Given the description of an element on the screen output the (x, y) to click on. 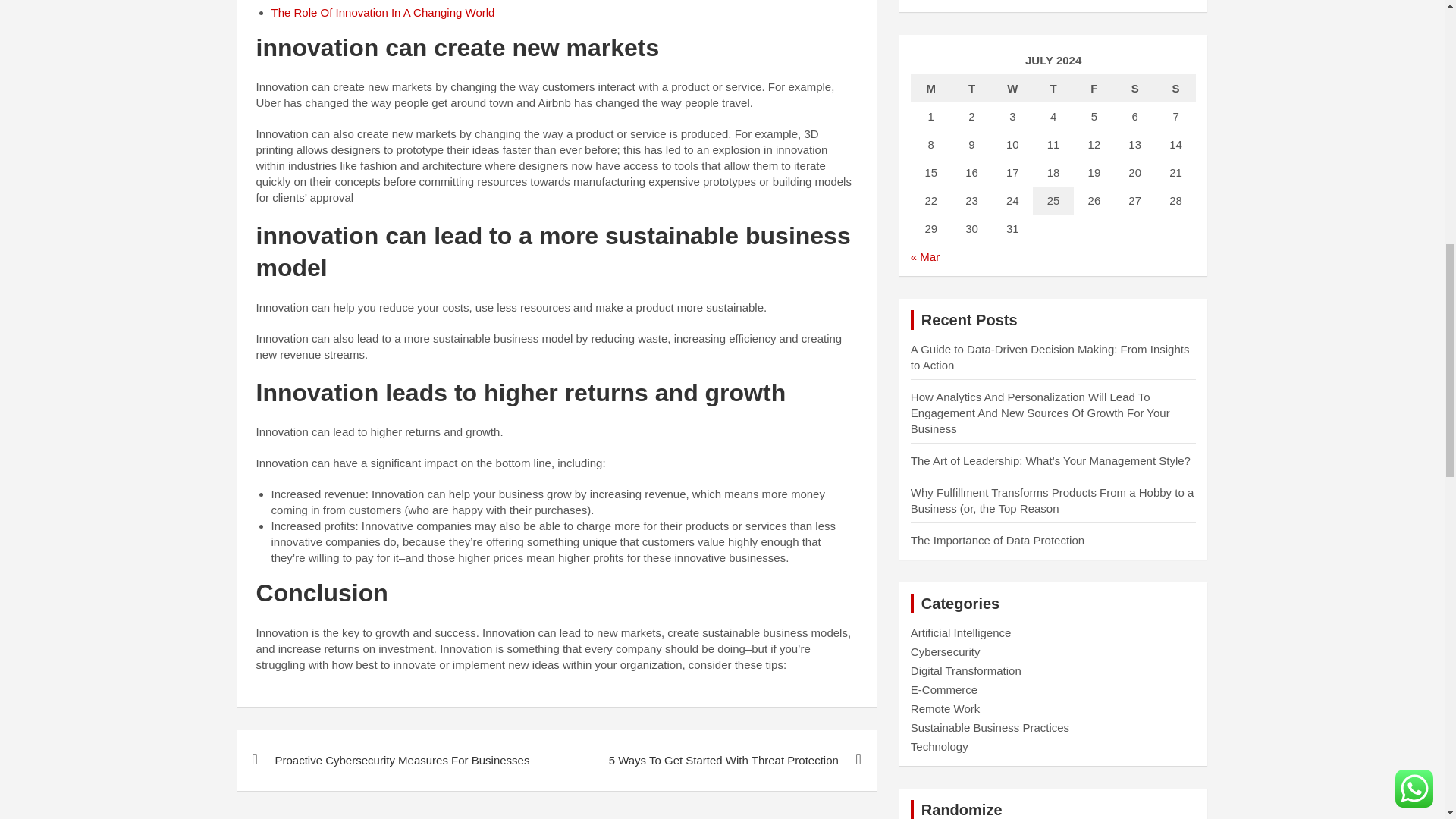
Thursday (1053, 88)
The Role Of Innovation In A Changing World (382, 11)
Wednesday (1011, 88)
Proactive Cybersecurity Measures For Businesses (395, 760)
Tuesday (972, 88)
Saturday (1135, 88)
Friday (1094, 88)
Sunday (1176, 88)
5 Ways To Get Started With Threat Protection (716, 760)
Monday (931, 88)
